Given the description of an element on the screen output the (x, y) to click on. 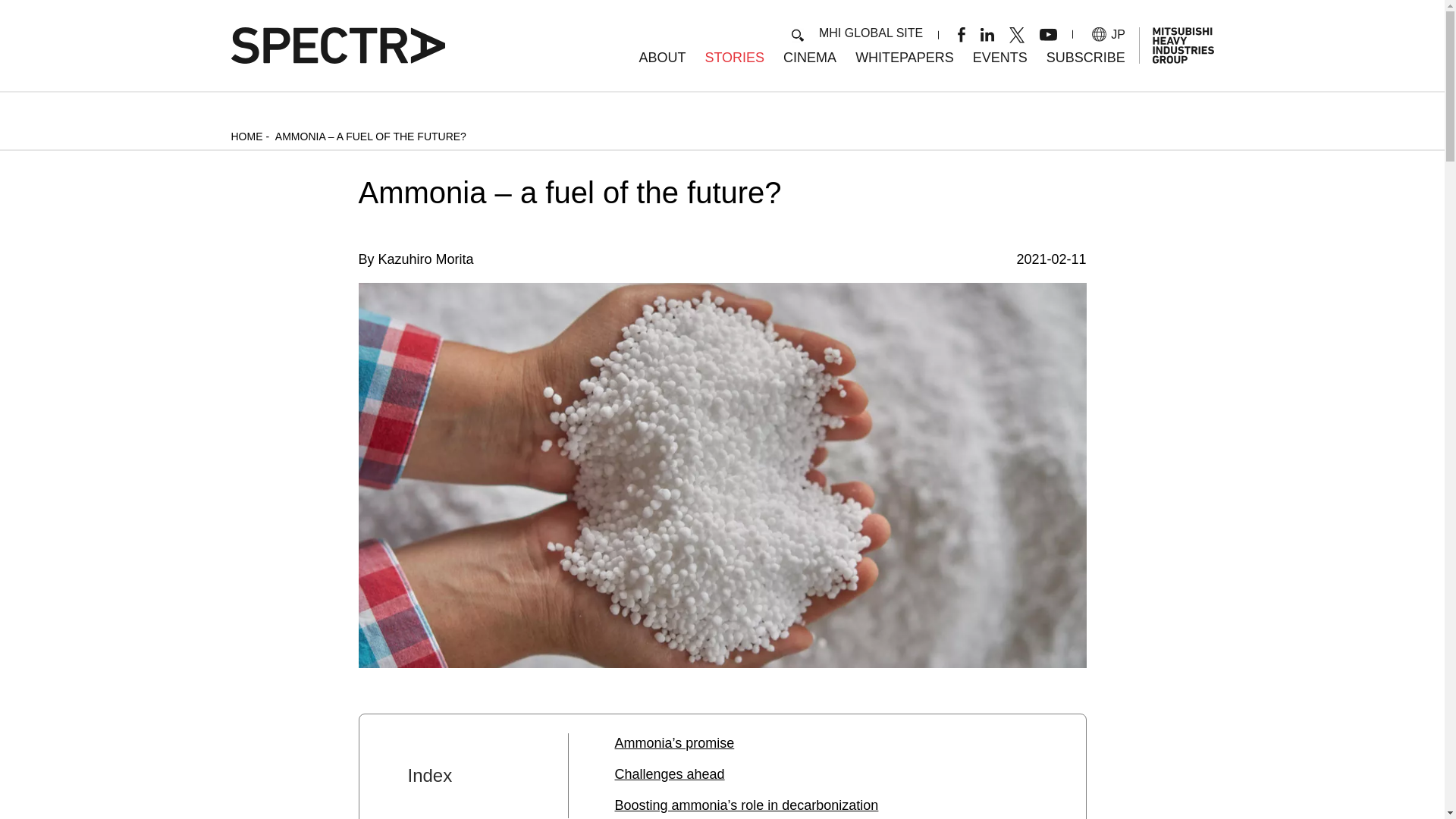
CINEMA (809, 57)
ABOUT (662, 57)
HOME (246, 136)
EVENTS (999, 57)
WHITEPAPERS (904, 57)
MHI Group at COP28 (999, 57)
MHI GLOBAL SITE (870, 32)
STORIES (734, 57)
JP (1108, 34)
